Given the description of an element on the screen output the (x, y) to click on. 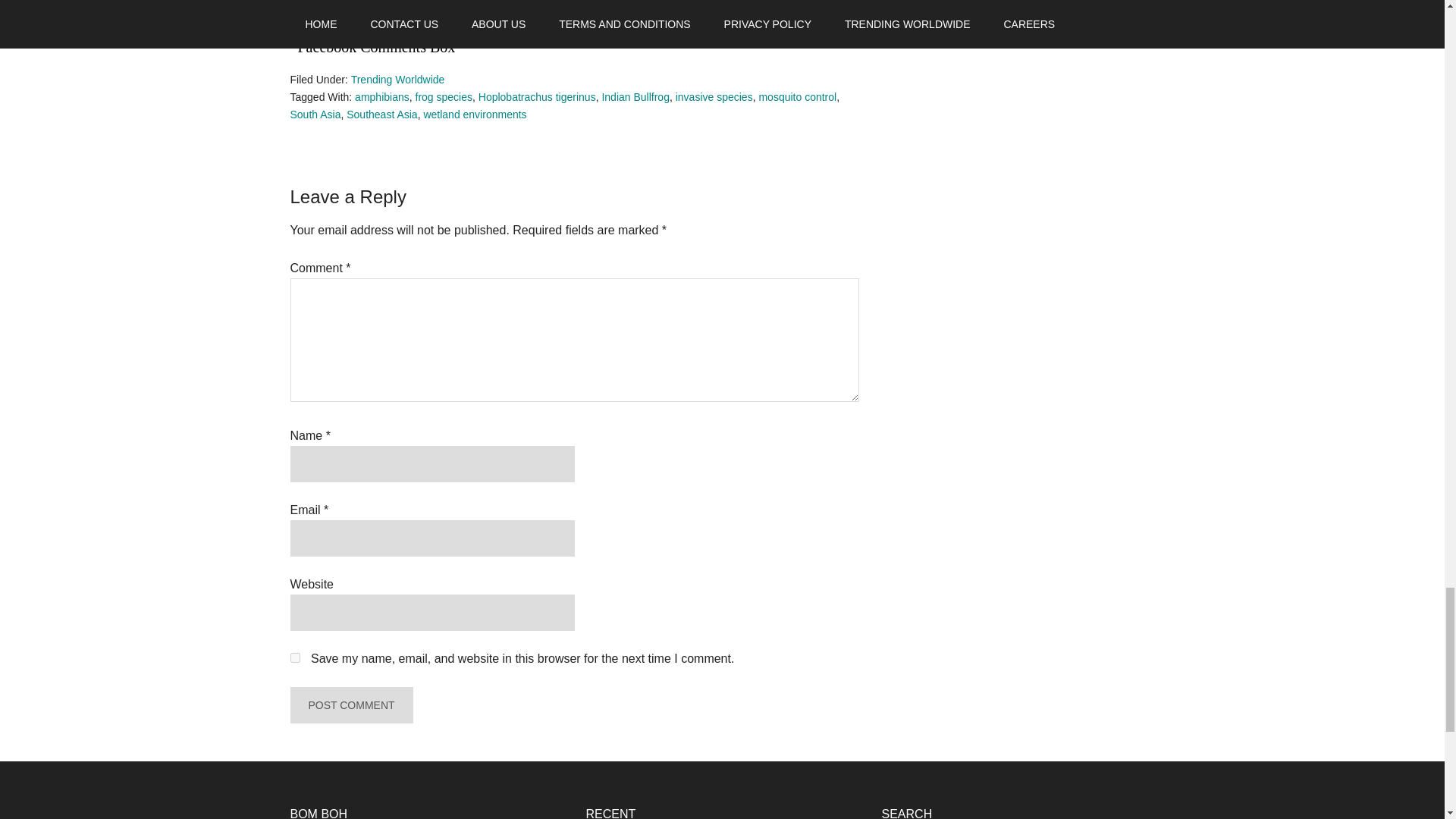
Post Comment (350, 705)
South Asia (314, 114)
invasive species (713, 96)
Hoplobatrachus tigerinus (537, 96)
wetland environments (474, 114)
amphibians (382, 96)
Trending Worldwide (397, 79)
Southeast Asia (381, 114)
Post Comment (350, 705)
frog species (442, 96)
yes (294, 657)
mosquito control (796, 96)
Indian Bullfrog (635, 96)
